Given the description of an element on the screen output the (x, y) to click on. 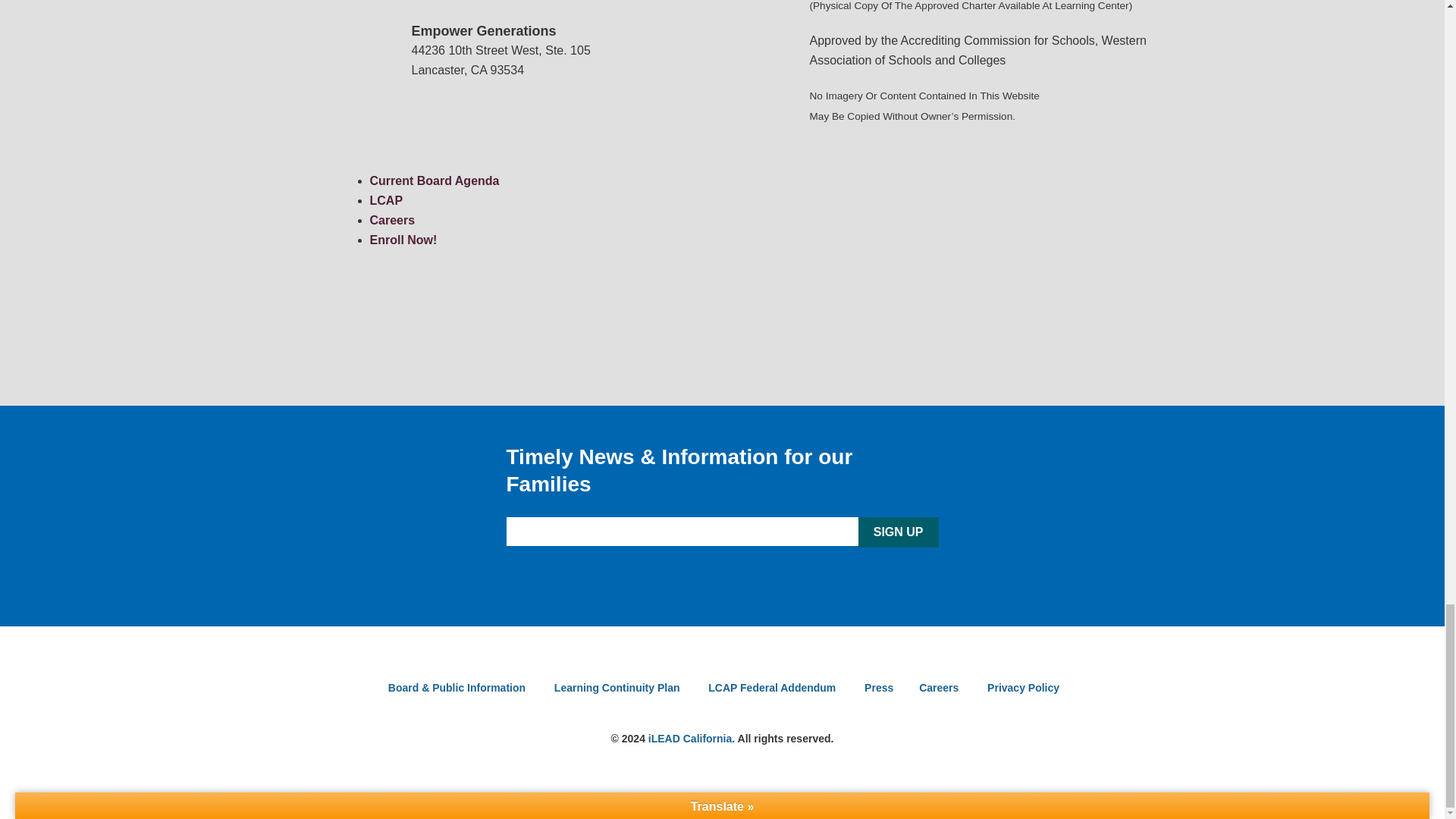
Sign up (899, 531)
